Given the description of an element on the screen output the (x, y) to click on. 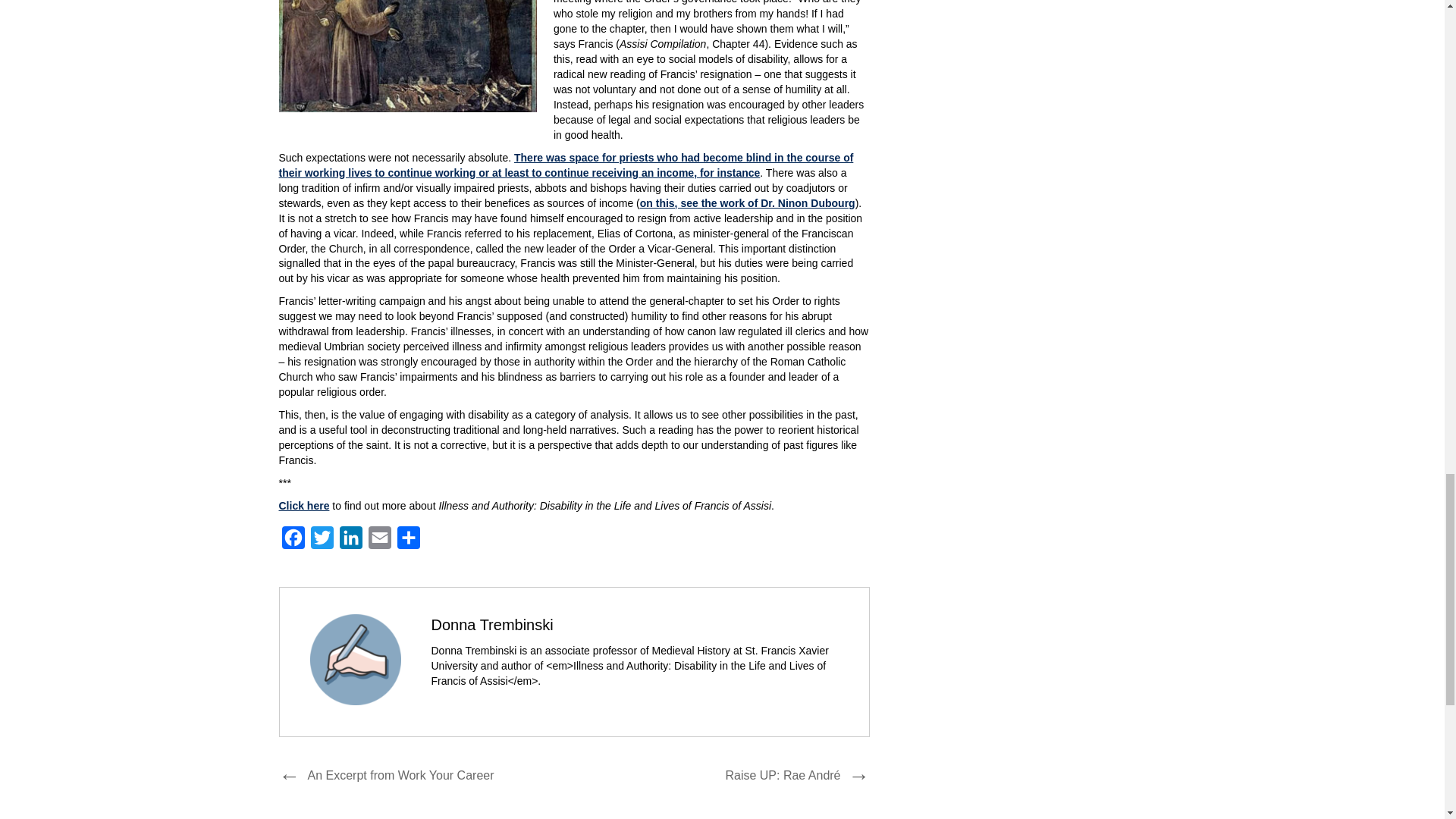
LinkedIn (350, 541)
Facebook (293, 541)
Twitter (321, 541)
Email (379, 541)
